Given the description of an element on the screen output the (x, y) to click on. 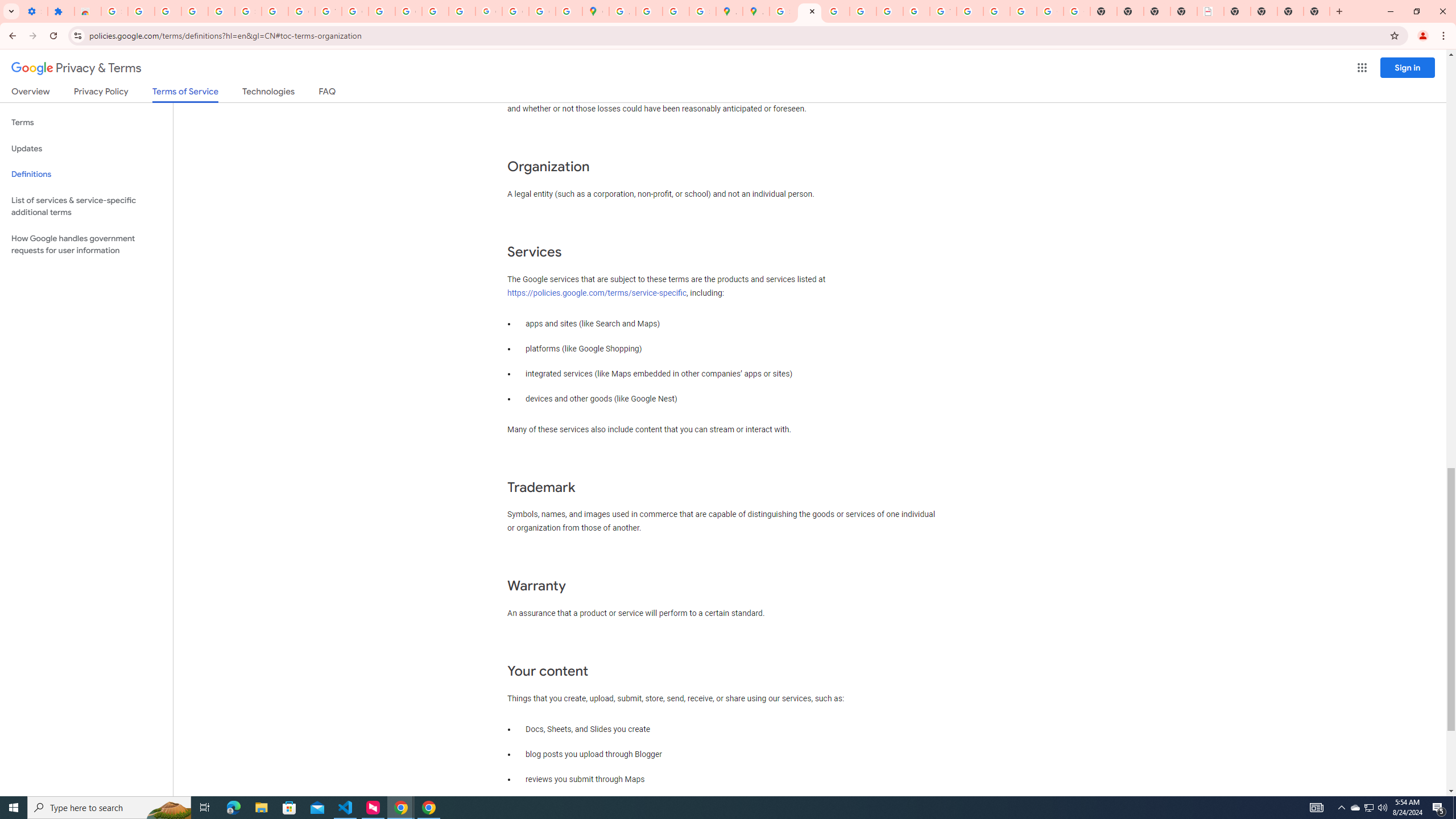
Privacy Help Center - Policies Help (862, 11)
Overview (30, 93)
Google Account (301, 11)
Safety in Our Products - Google Safety Center (702, 11)
Privacy Help Center - Policies Help (836, 11)
